Given the description of an element on the screen output the (x, y) to click on. 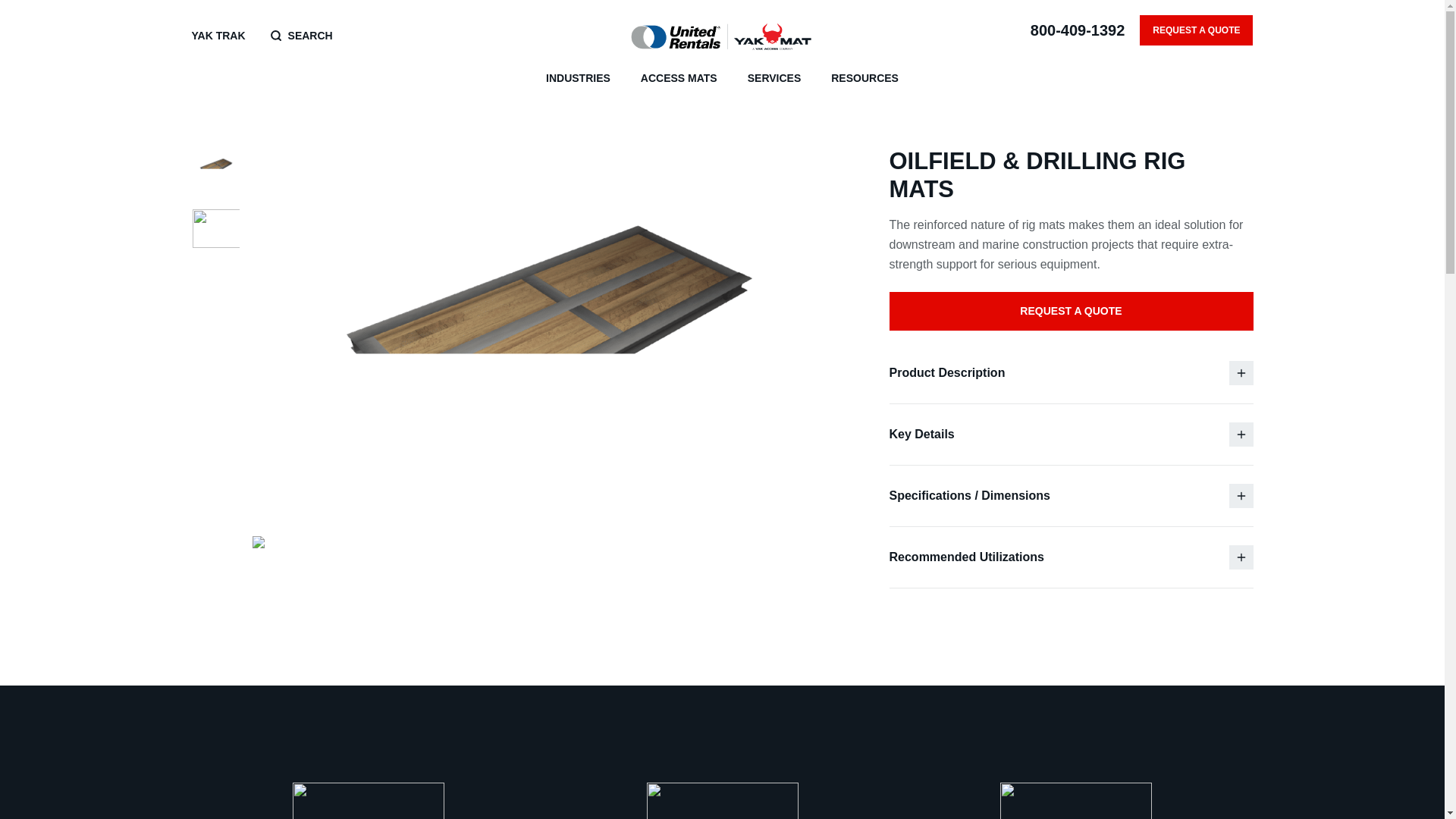
INDUSTRIES (578, 78)
ACCESS MATS (678, 78)
SERVICES (775, 78)
YAK TRAK (217, 35)
RESOURCES (864, 78)
